Given the description of an element on the screen output the (x, y) to click on. 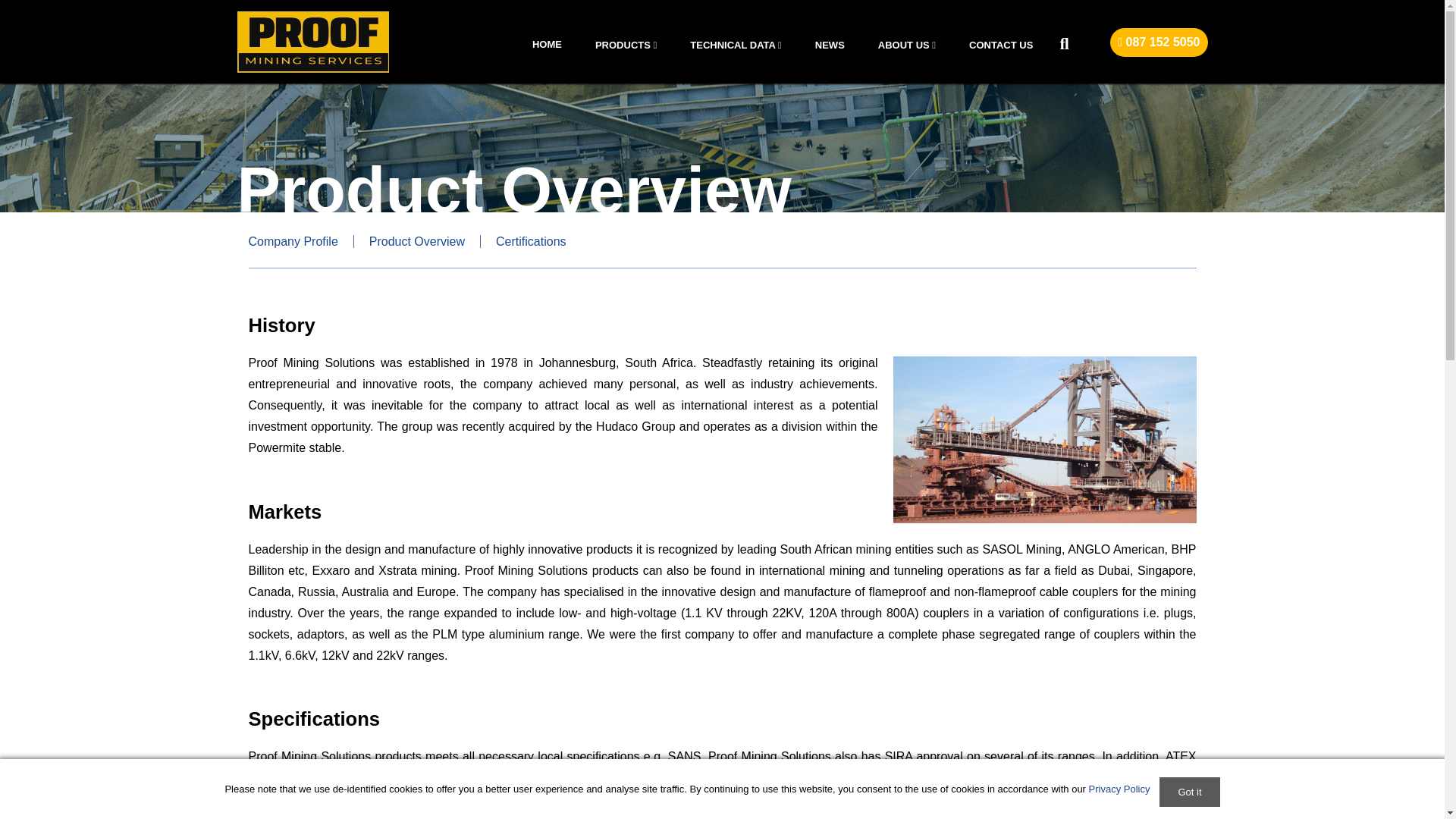
Certifications (530, 241)
TECHNICAL DATA (735, 51)
PRODUCTS (625, 51)
087 152 5050 (1158, 41)
Product Overview (416, 241)
CONTACT US (1000, 51)
Company Profile (300, 241)
